Given the description of an element on the screen output the (x, y) to click on. 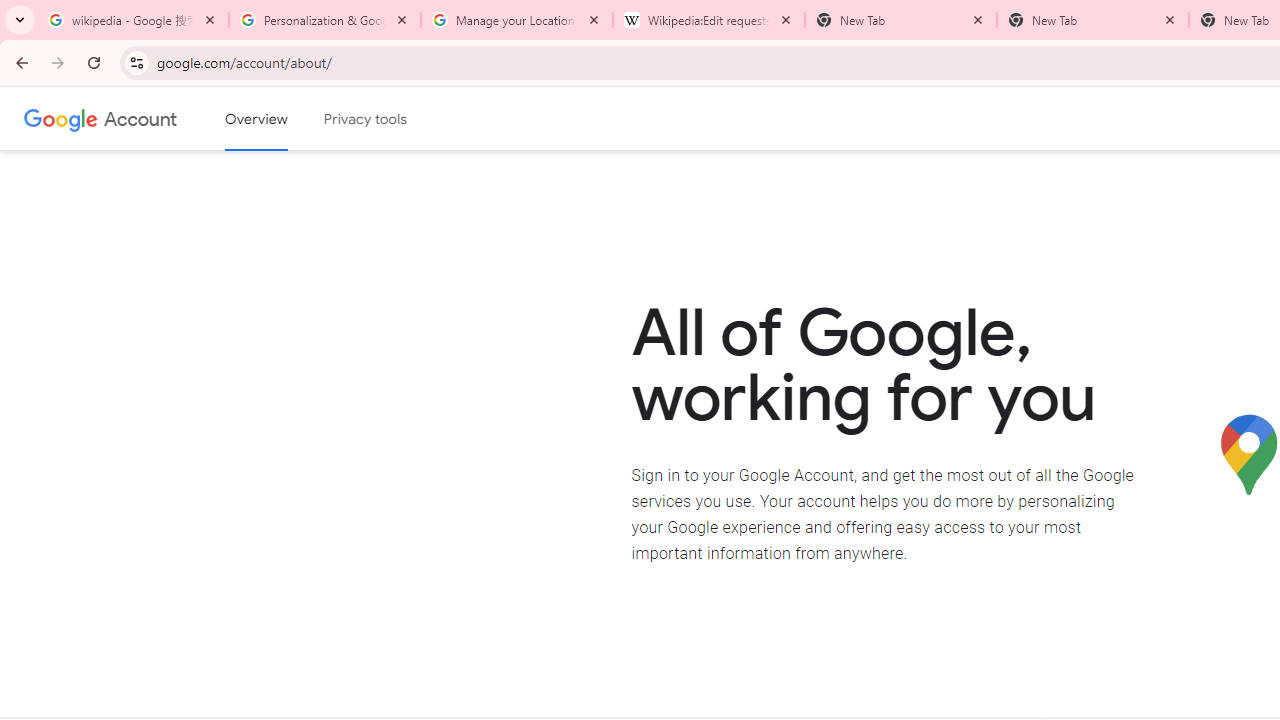
Personalization & Google Search results - Google Search Help (325, 20)
New Tab (1093, 20)
Google Account (140, 118)
Manage your Location History - Google Search Help (517, 20)
Skip to Content (285, 115)
Wikipedia:Edit requests - Wikipedia (709, 20)
Google logo (61, 118)
